Given the description of an element on the screen output the (x, y) to click on. 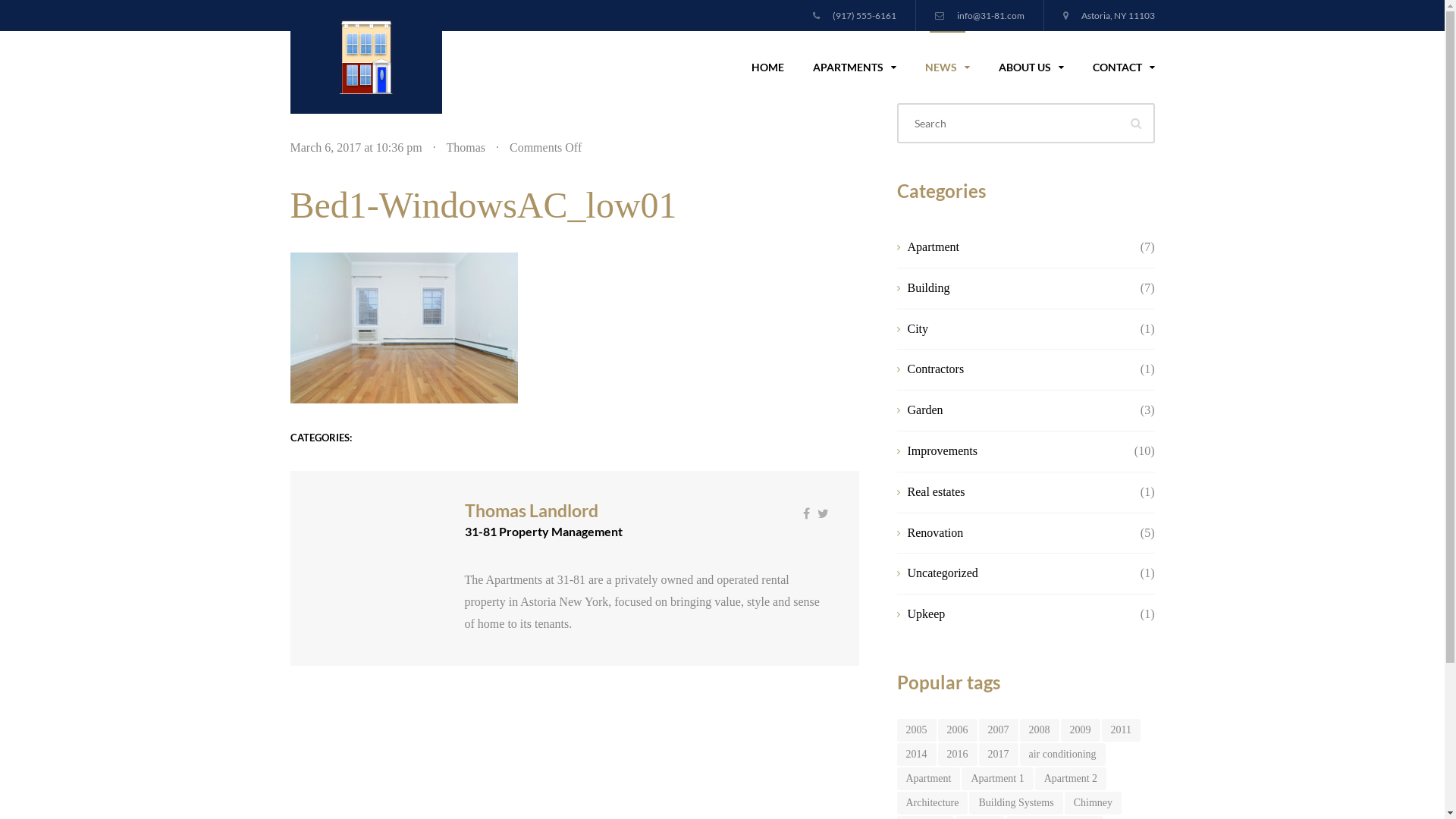
2009 Element type: text (1079, 729)
Building Systems Element type: text (1015, 802)
2011 Element type: text (1120, 729)
2005 Element type: text (915, 729)
Chimney Element type: text (1092, 802)
Upkeep Element type: text (1012, 614)
Astoria, NY 11103 Element type: text (1108, 15)
2017 Element type: text (997, 754)
Bed1-WindowsAC_low01 Element type: text (482, 205)
Building Element type: text (1012, 288)
CONTACT Element type: text (1116, 67)
City Element type: text (1012, 329)
ABOUT US Element type: text (1031, 67)
Apartment 2 Element type: text (1070, 778)
info@31-81.com Element type: text (978, 15)
Garden Element type: text (1012, 410)
2008 Element type: text (1038, 729)
APARTMENTS Element type: text (853, 67)
Apartment 1 Element type: text (996, 778)
2014 Element type: text (915, 754)
Renovation Element type: text (1012, 533)
2016 Element type: text (956, 754)
2006 Element type: text (956, 729)
Uncategorized Element type: text (1012, 573)
air conditioning Element type: text (1061, 754)
HOME Element type: text (767, 67)
Apartment Element type: text (1012, 247)
Real estates Element type: text (1012, 492)
Improvements Element type: text (1012, 451)
Thomas Element type: text (465, 147)
Contractors Element type: text (1012, 369)
2007 Element type: text (997, 729)
Architecture Element type: text (931, 802)
Apartment Element type: text (928, 778)
NEWS Element type: text (946, 67)
